Given the description of an element on the screen output the (x, y) to click on. 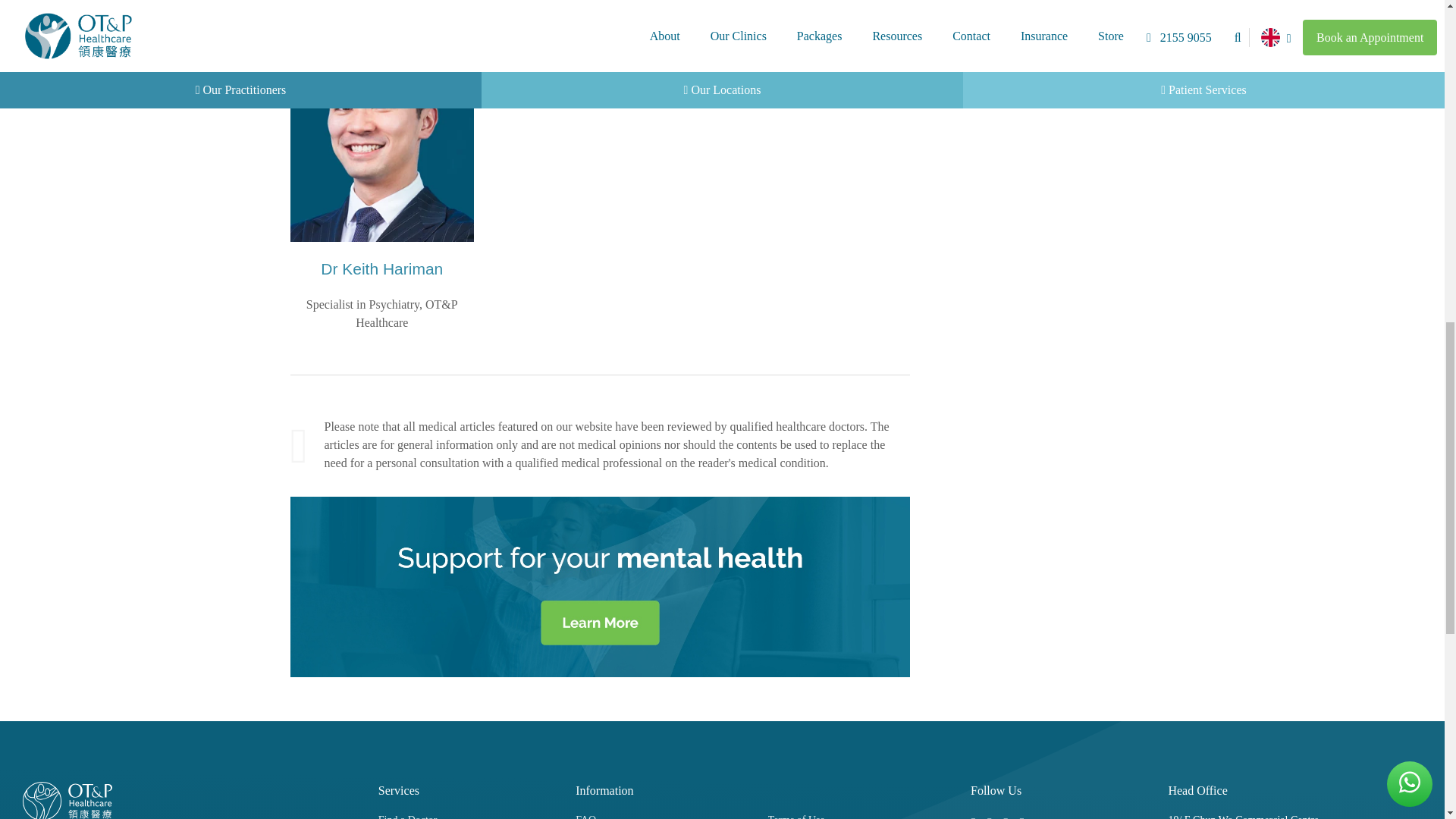
logo-white (67, 800)
